Given the description of an element on the screen output the (x, y) to click on. 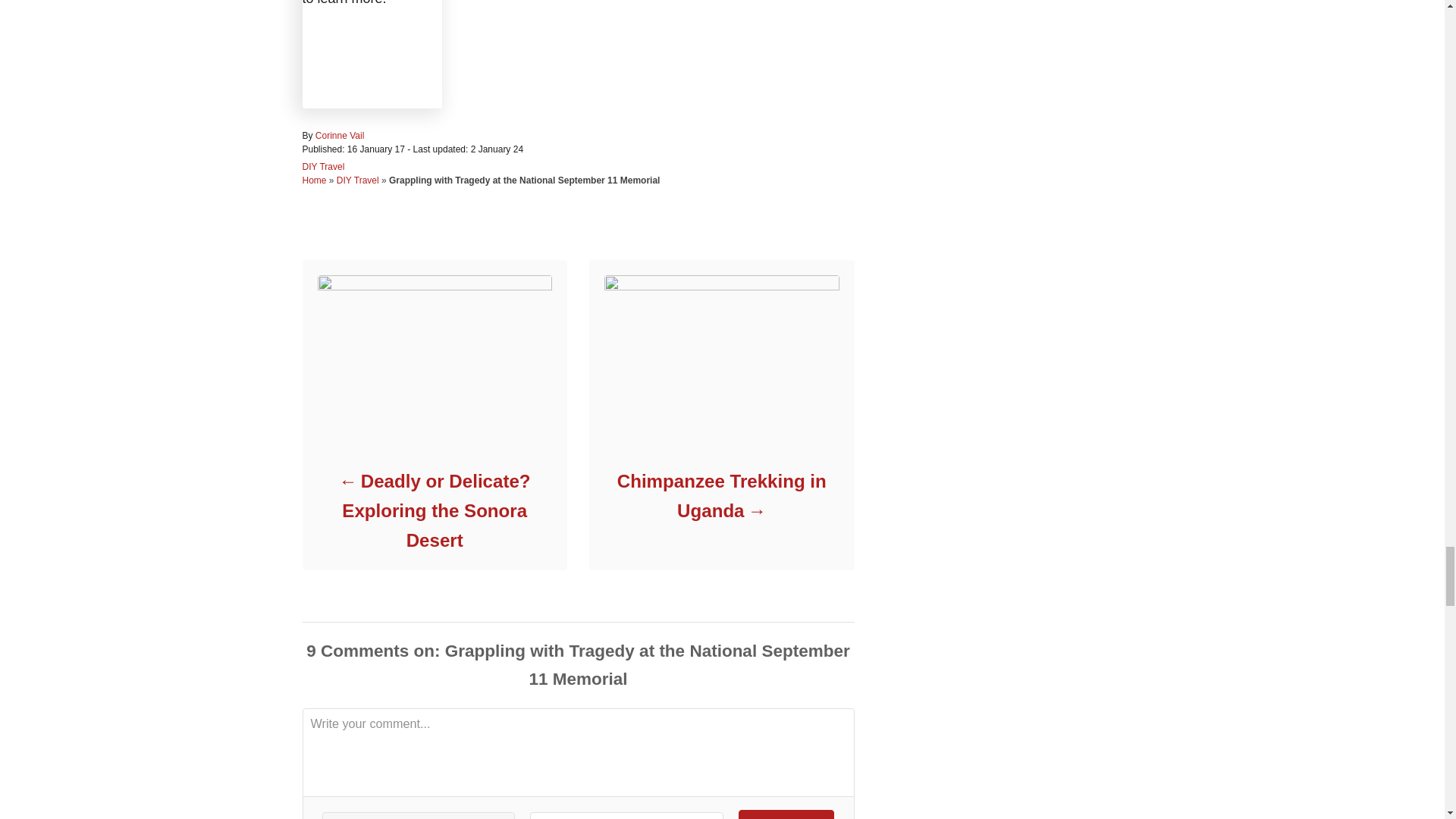
Chimpanzee Trekking in Uganda (721, 495)
Corinne Vail (339, 135)
Home (313, 180)
Comment (786, 814)
Deadly or Delicate? Exploring the Sonora Desert (434, 511)
DIY Travel (322, 166)
DIY Travel (357, 180)
